Given the description of an element on the screen output the (x, y) to click on. 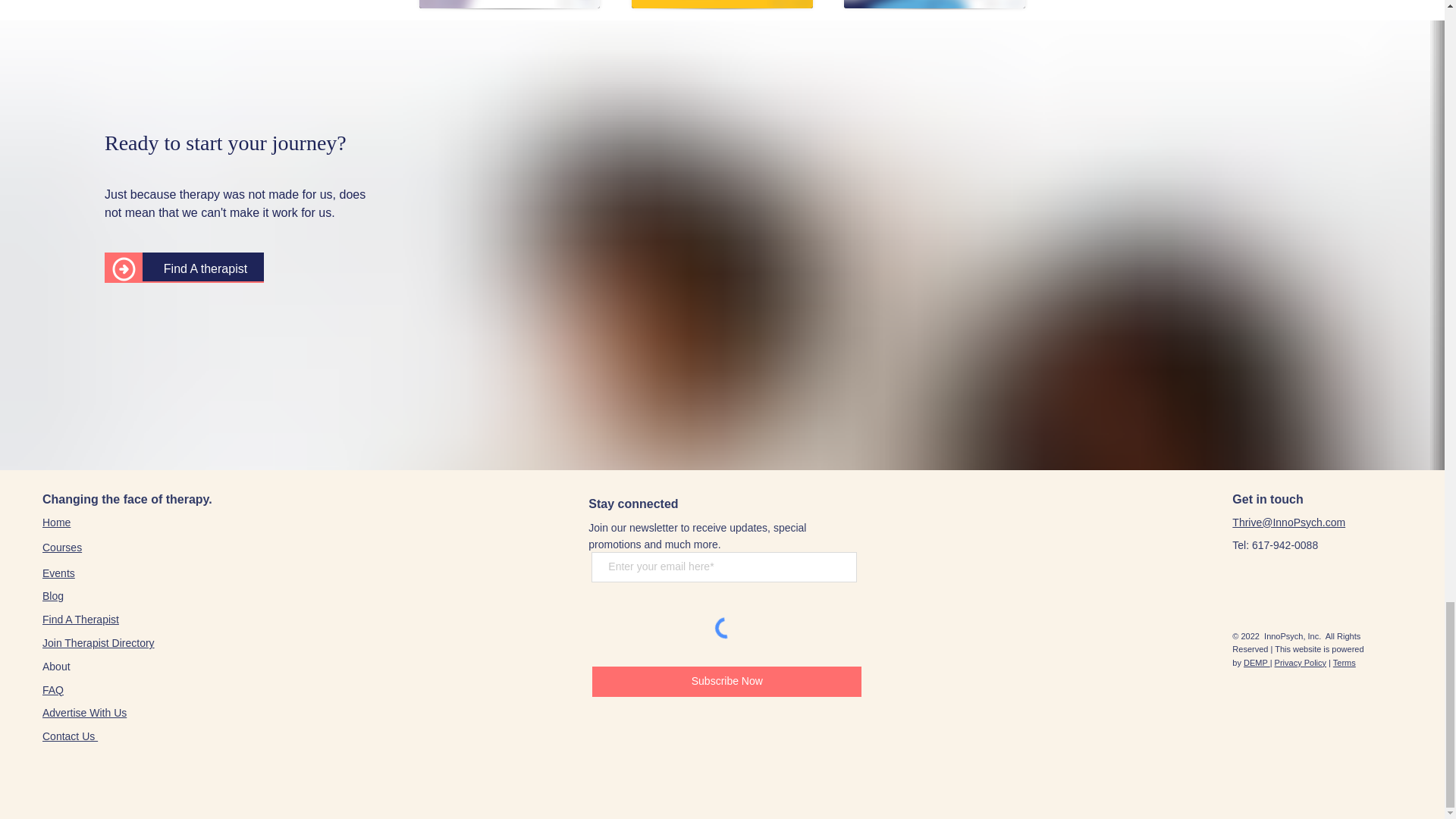
Blog (53, 595)
Find A therapist (205, 268)
Events (58, 573)
Home (55, 522)
Courses (61, 546)
Join Therapist Directory (98, 643)
Find A Therapist (80, 619)
